Given the description of an element on the screen output the (x, y) to click on. 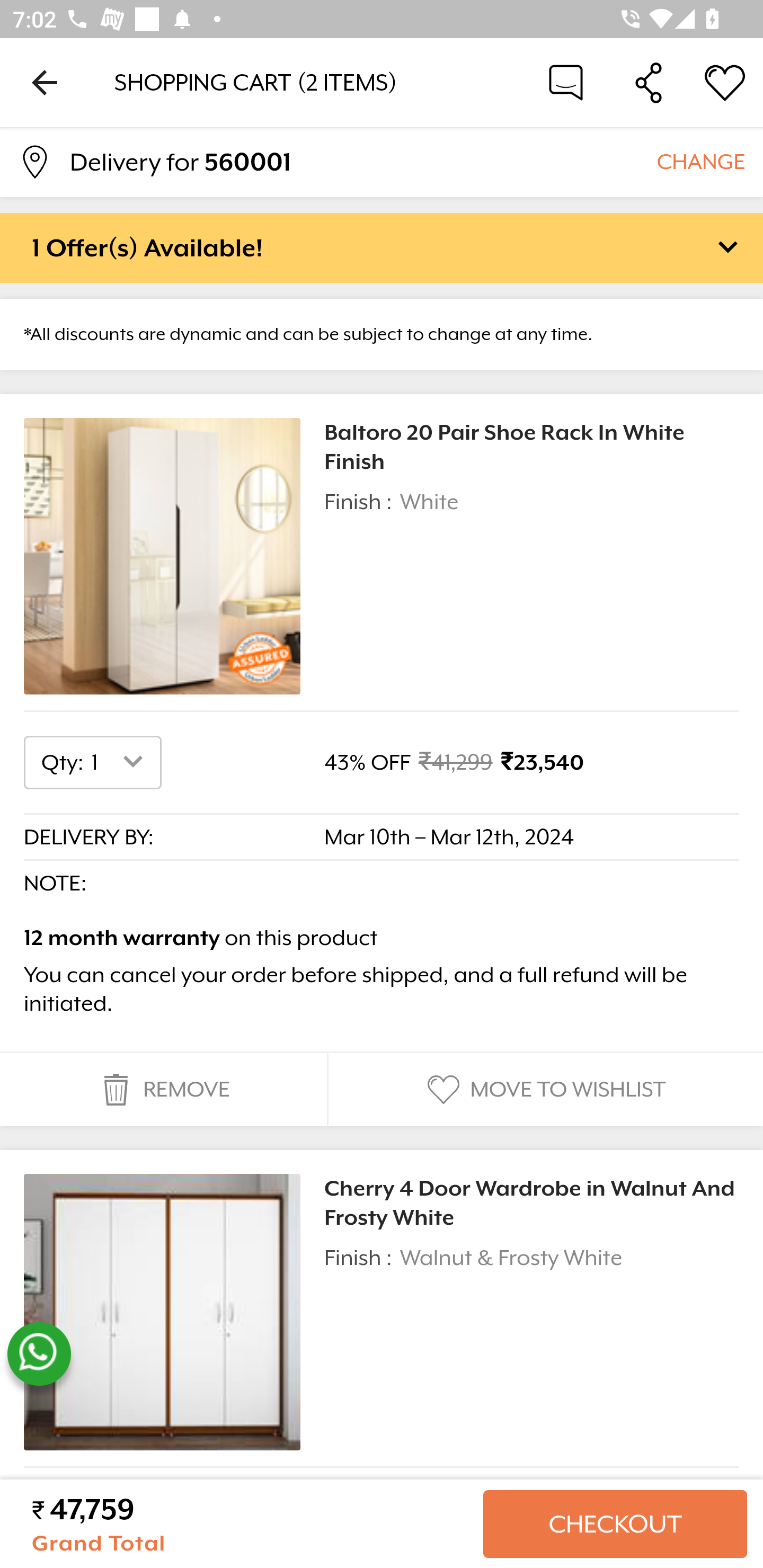
Navigate up (44, 82)
Chat (565, 81)
Share Cart (648, 81)
Wishlist (724, 81)
CHANGE (700, 161)
1 Offer(s) Available! (381, 247)
1 (121, 761)
REMOVE (163, 1089)
MOVE TO WISHLIST (544, 1089)
whatsapp (38, 1353)
₹ 47,759 Grand Total (250, 1523)
CHECKOUT (614, 1523)
